Given the description of an element on the screen output the (x, y) to click on. 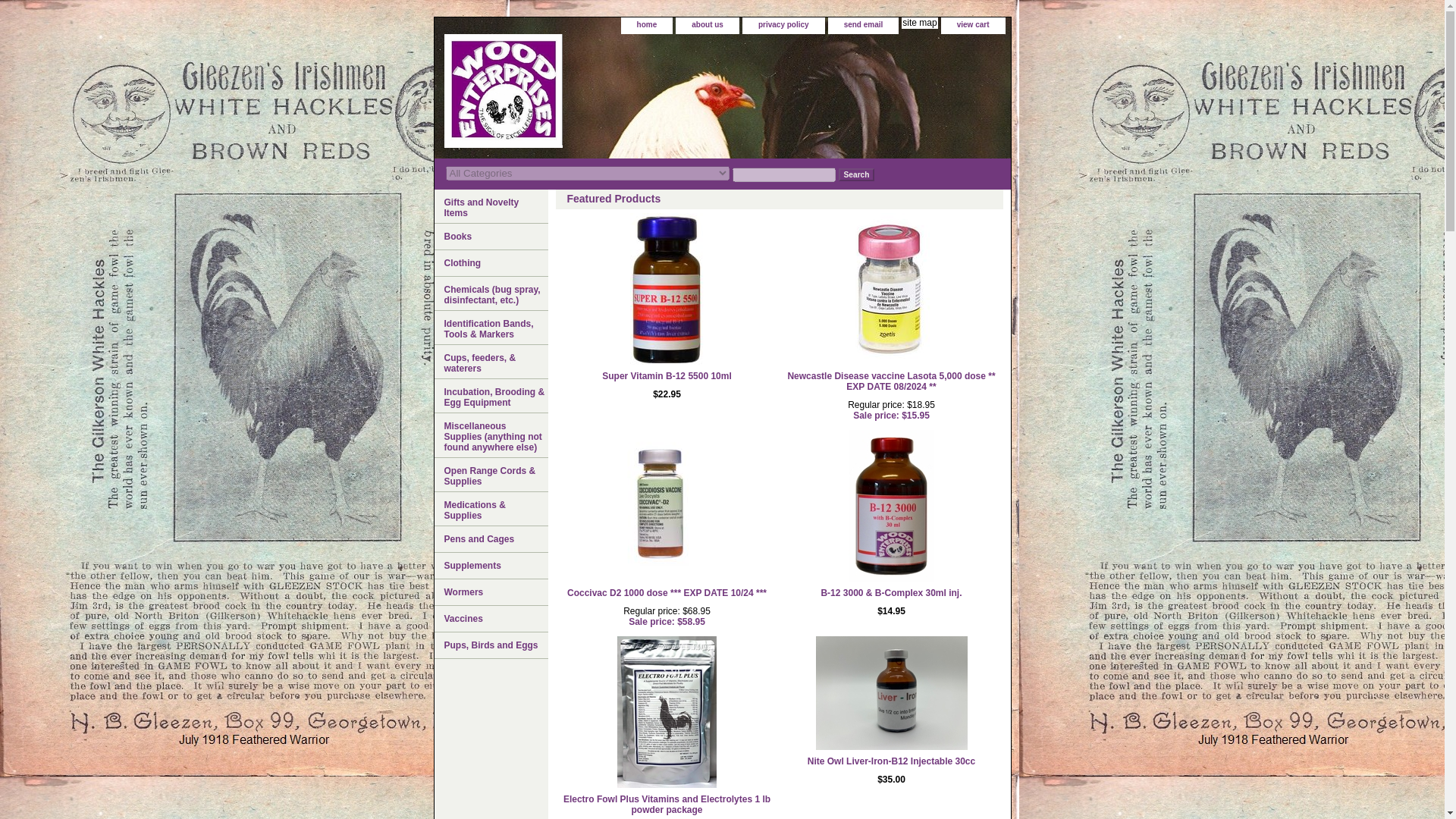
Nite Owl Liver-Iron-B12 Injectable 30cc (891, 760)
Gifts and Novelty Items (490, 206)
Nite Owl Liver-Iron-B12 Injectable 30cc (891, 760)
Search (856, 174)
Super Vitamin B-12 5500 10ml (667, 376)
privacy policy (783, 25)
send email (863, 25)
Search (856, 174)
